Given the description of an element on the screen output the (x, y) to click on. 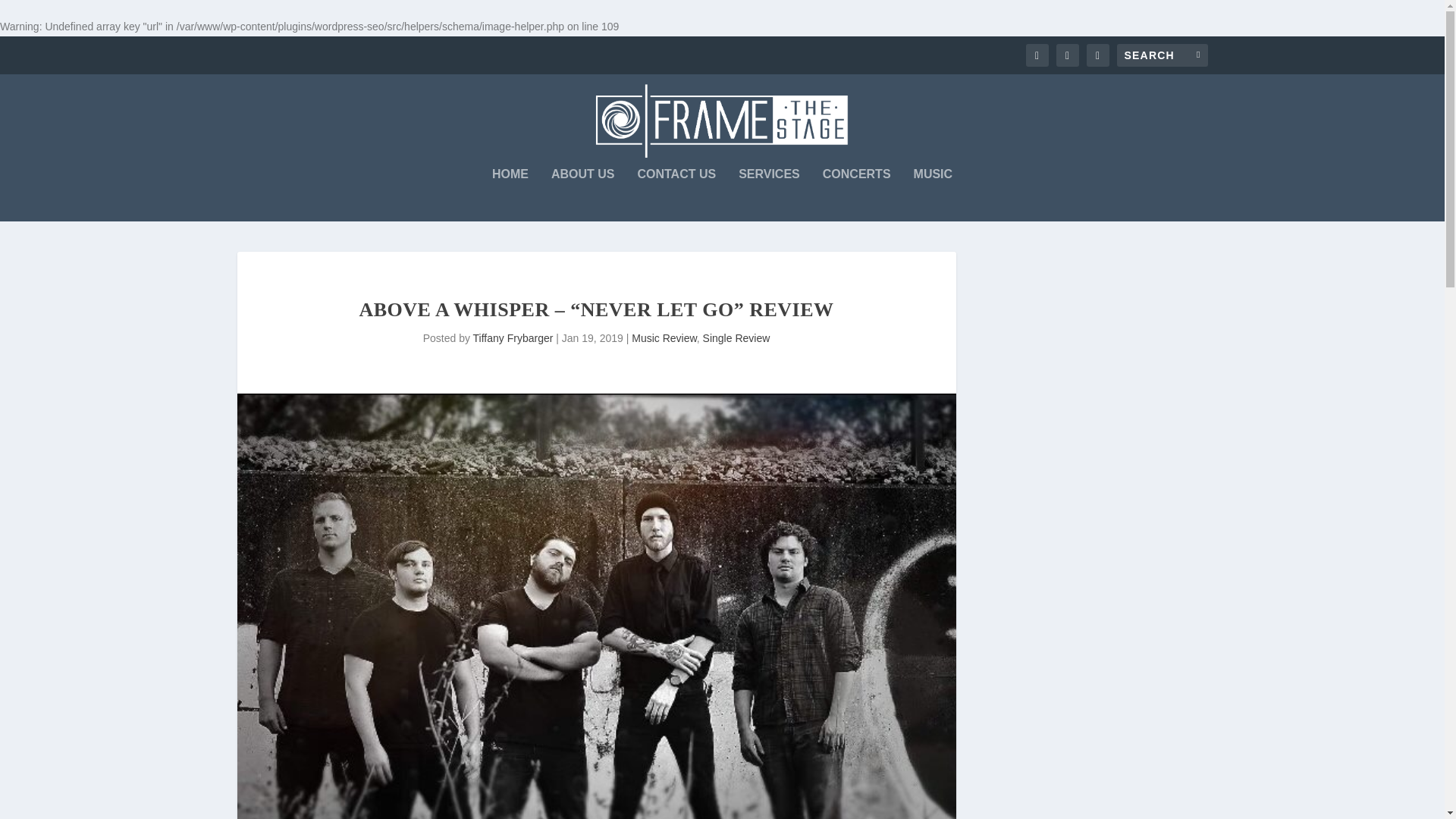
CONTACT US (676, 194)
Single Review (736, 337)
Posts by Tiffany Frybarger (513, 337)
Tiffany Frybarger (513, 337)
Music Review (664, 337)
SERVICES (768, 194)
ABOUT US (582, 194)
Search for: (1161, 55)
CONCERTS (856, 194)
